Given the description of an element on the screen output the (x, y) to click on. 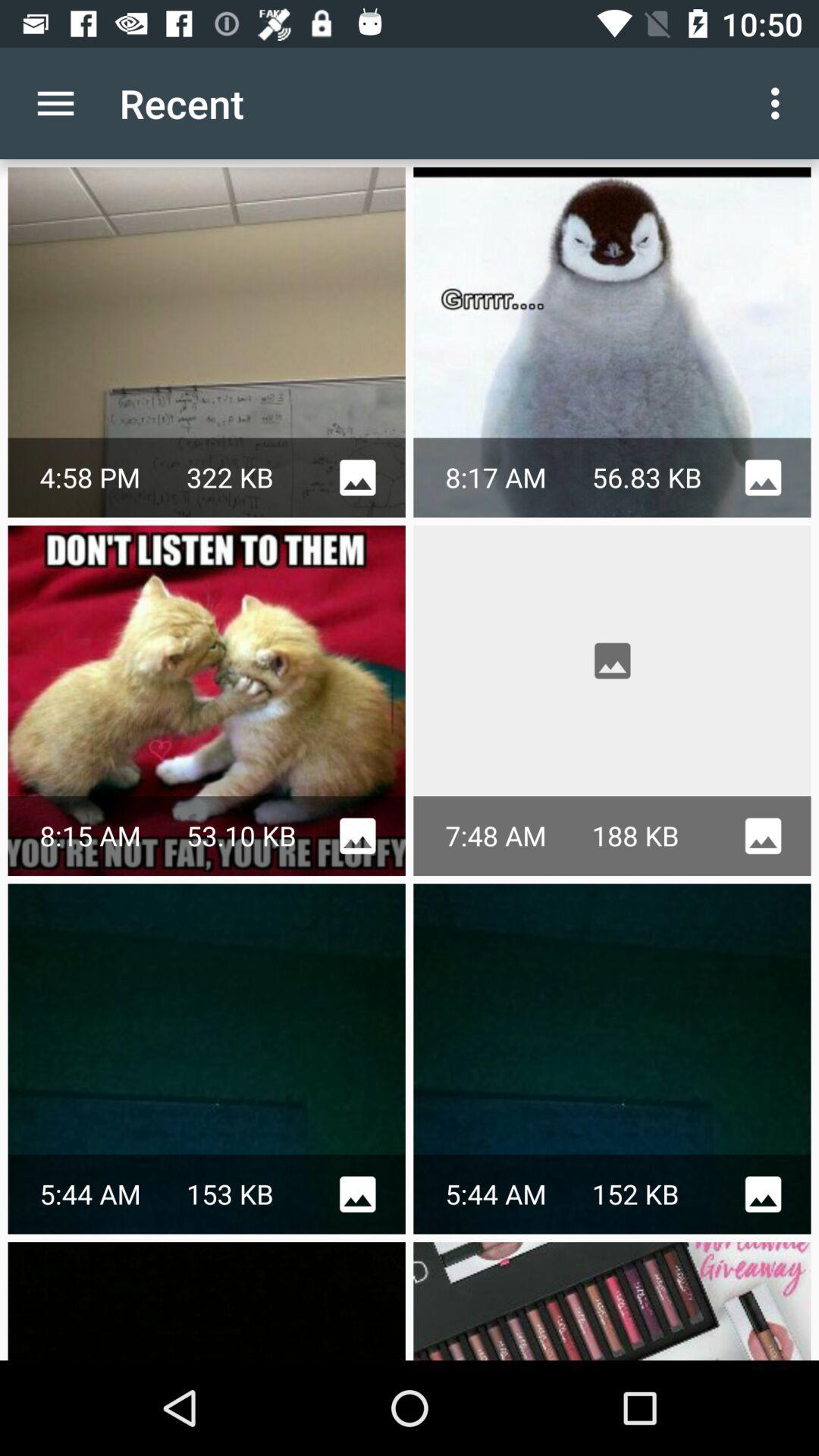
click the icon next to recent app (55, 103)
